Given the description of an element on the screen output the (x, y) to click on. 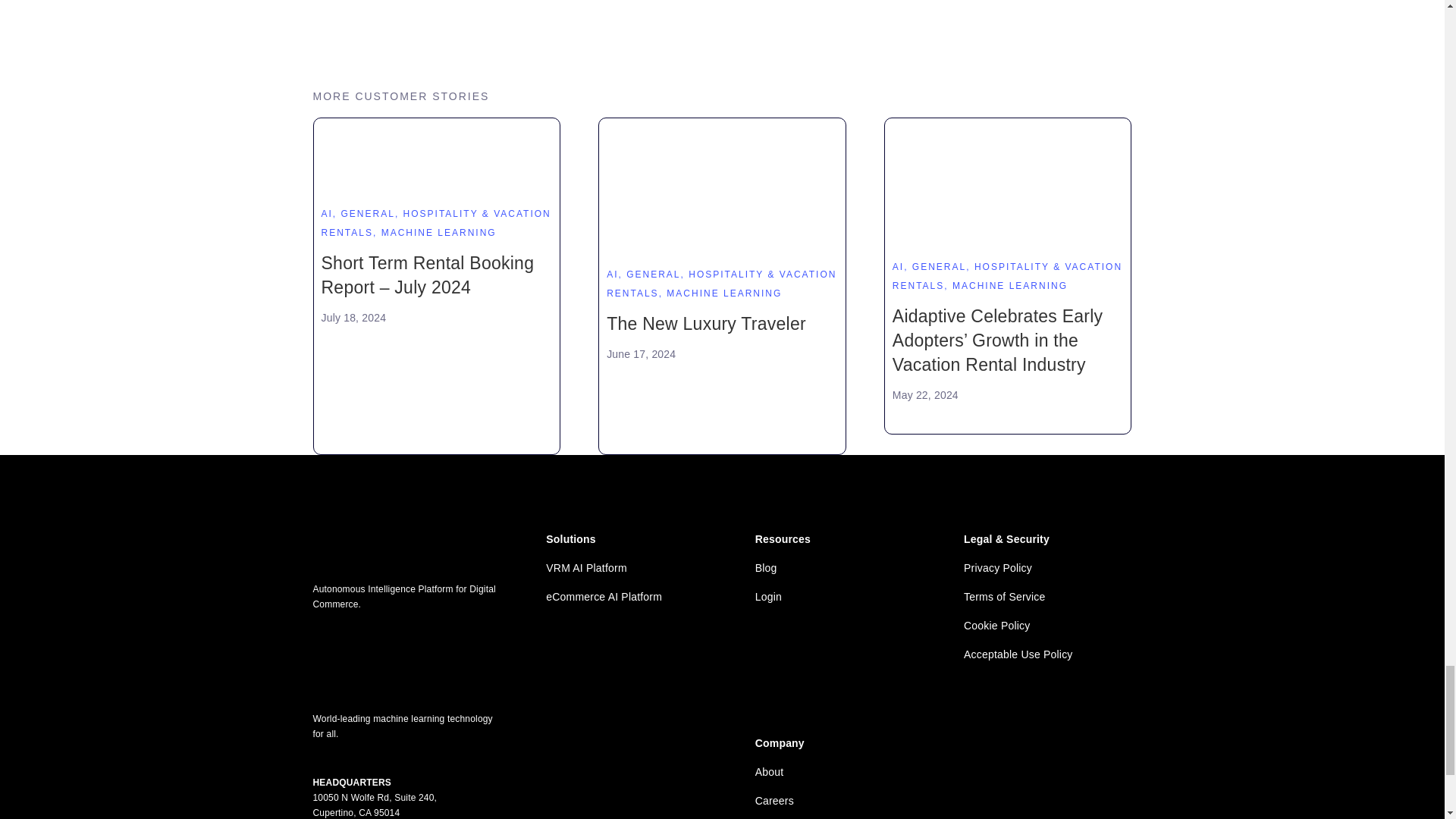
Group 1390 (406, 662)
